Given the description of an element on the screen output the (x, y) to click on. 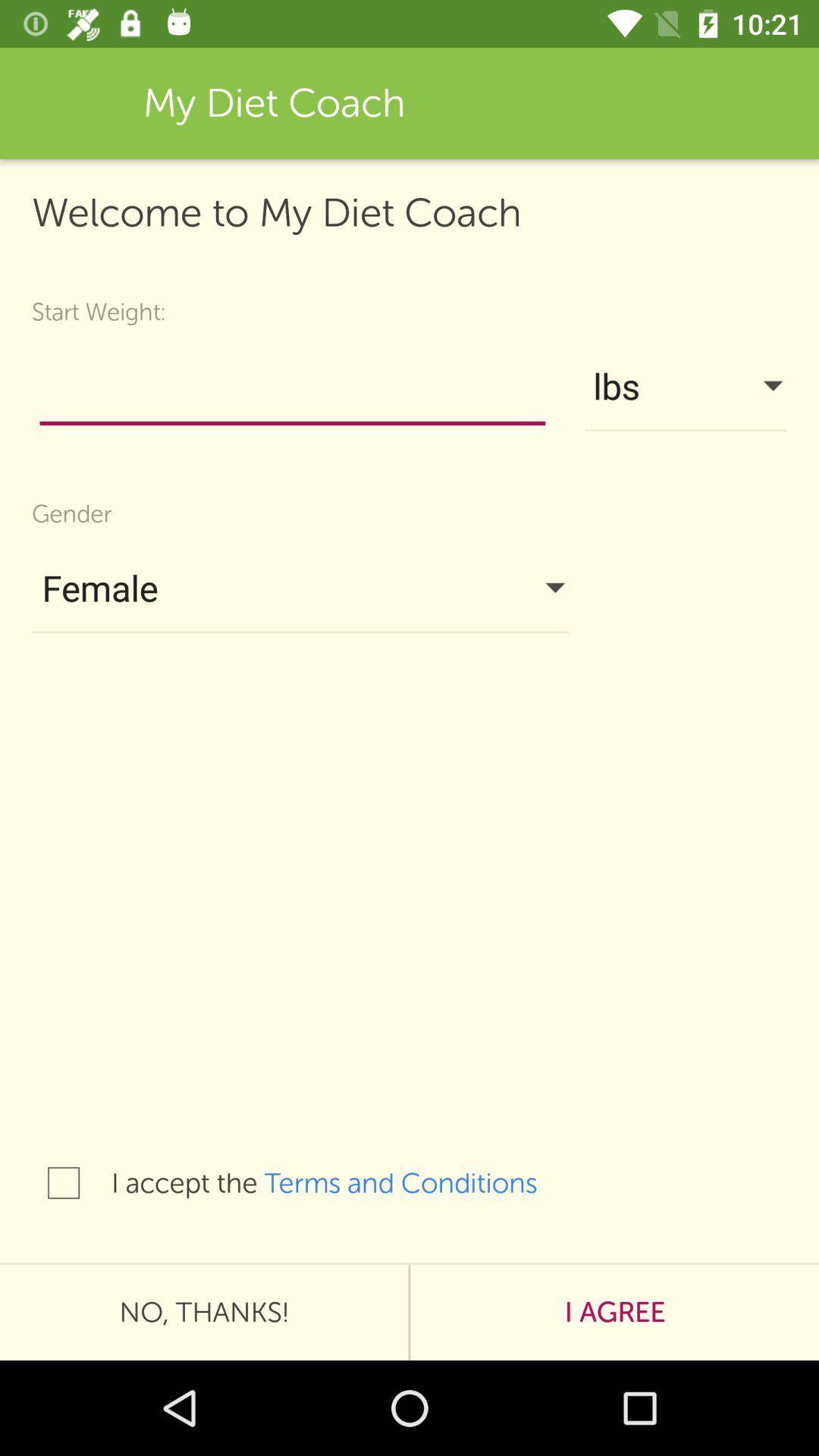
launch the icon below female (416, 1182)
